Given the description of an element on the screen output the (x, y) to click on. 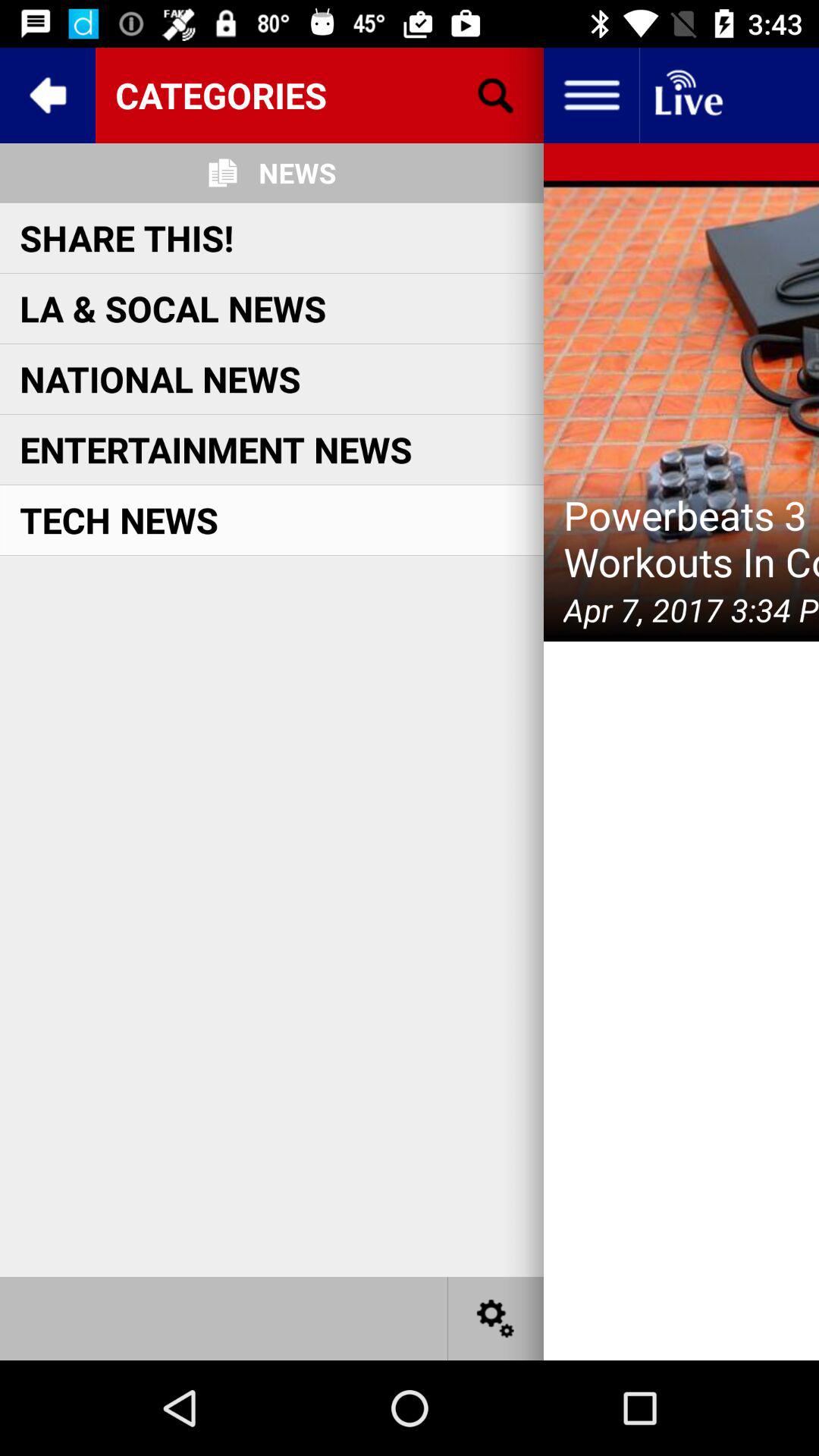
tap the national news item (159, 378)
